Given the description of an element on the screen output the (x, y) to click on. 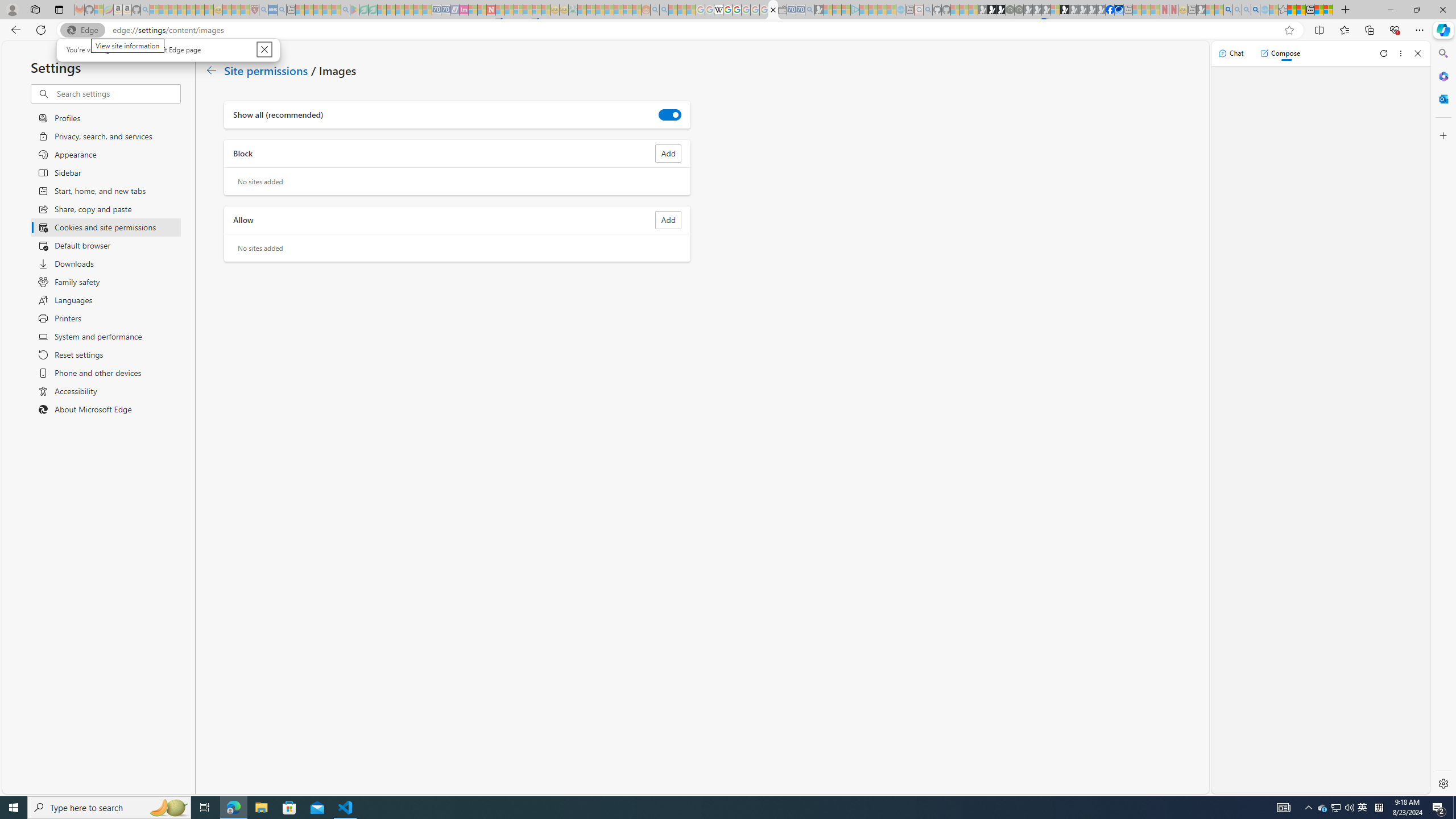
Future Focus Report 2024 - Sleeping (1018, 9)
Nordace | Facebook (1109, 9)
MSN - Sleeping (1200, 9)
